Given the description of an element on the screen output the (x, y) to click on. 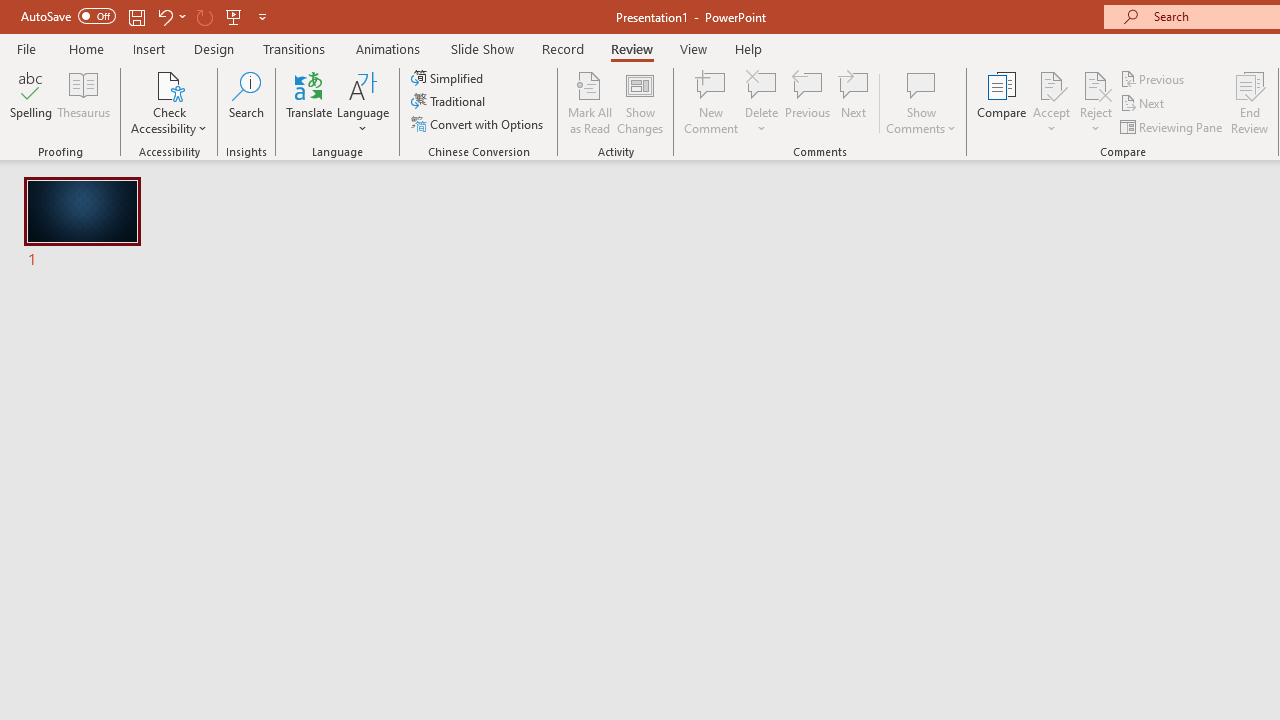
Show Changes (639, 102)
New Comment (711, 102)
Reviewing Pane (1172, 126)
Thesaurus... (83, 102)
